Given the description of an element on the screen output the (x, y) to click on. 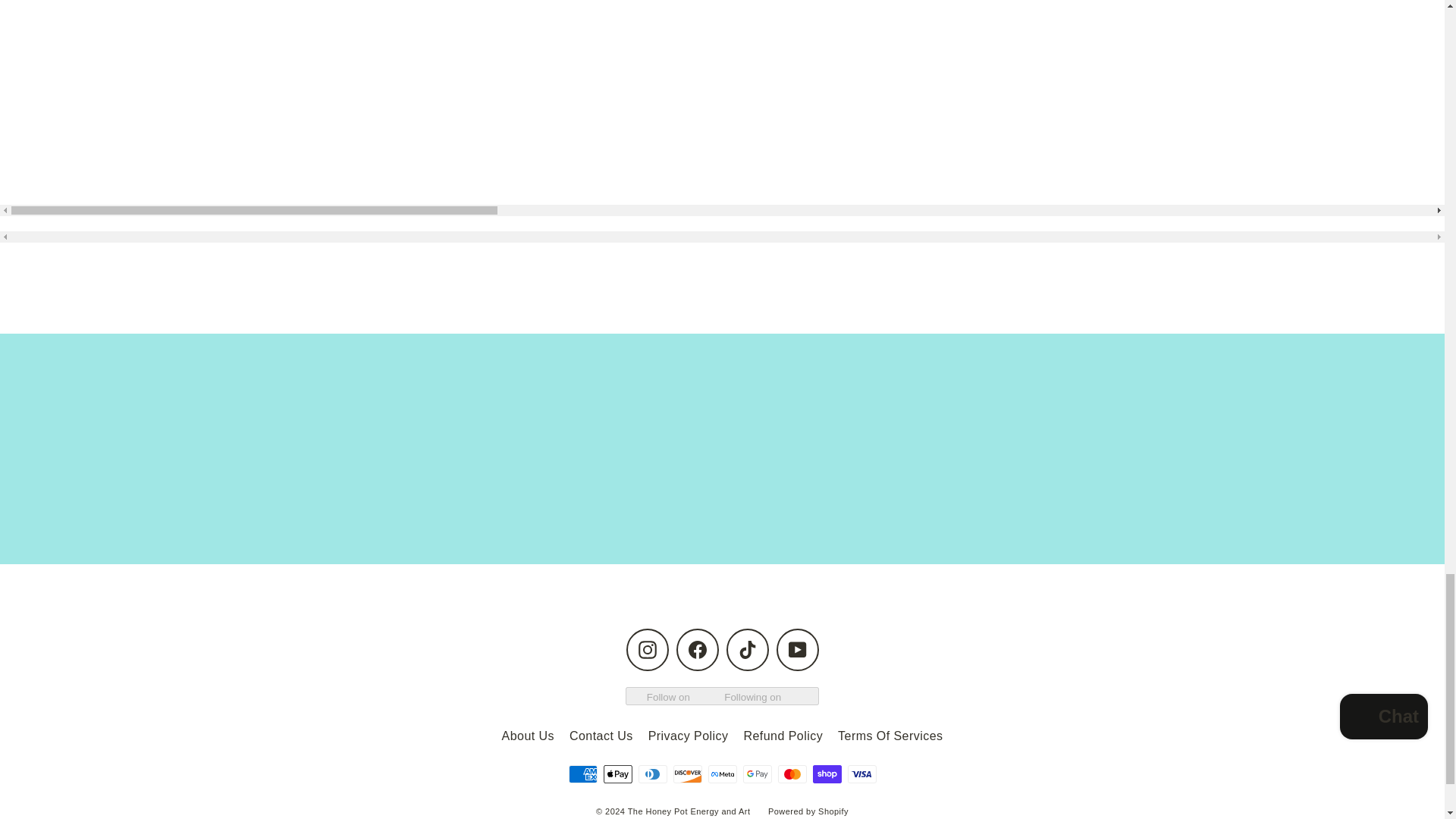
Google Pay (756, 773)
 The Honey Pot Energy and Art  on Facebook (698, 649)
Mastercard (791, 773)
Meta Pay (721, 773)
 The Honey Pot Energy and Art  on Instagram (647, 649)
Visa (861, 773)
 The Honey Pot Energy and Art  on TikTok (747, 649)
Discover (686, 773)
Shop Pay (826, 773)
Apple Pay (617, 773)
